Given the description of an element on the screen output the (x, y) to click on. 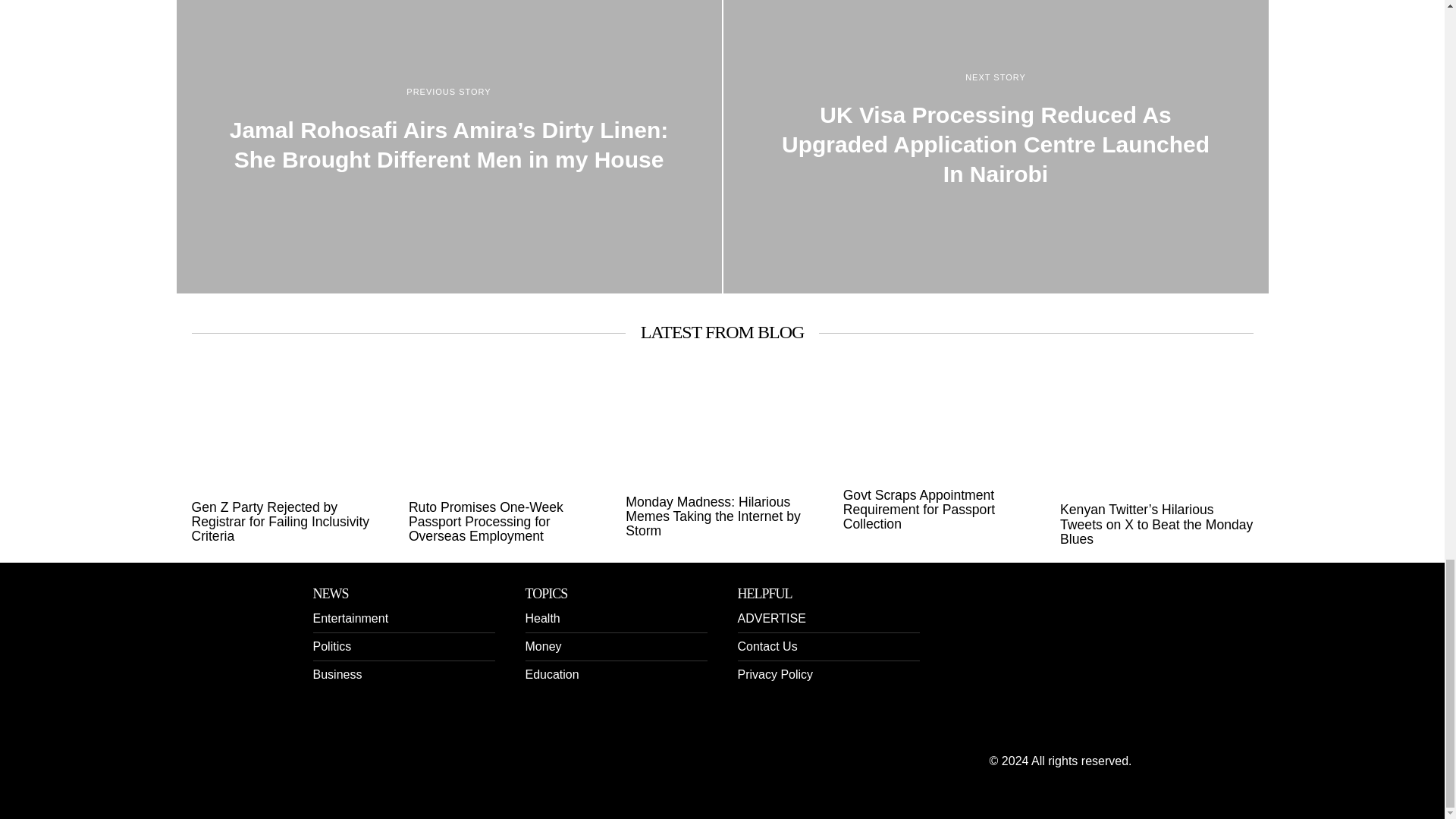
Education (551, 674)
Govt Scraps Appointment Requirement for Passport Collection (939, 510)
Politics (331, 645)
Entertainment (350, 617)
Money (542, 645)
Business (337, 674)
Monday Madness: Hilarious Memes Taking the Internet by Storm (722, 516)
Health (541, 617)
